Given the description of an element on the screen output the (x, y) to click on. 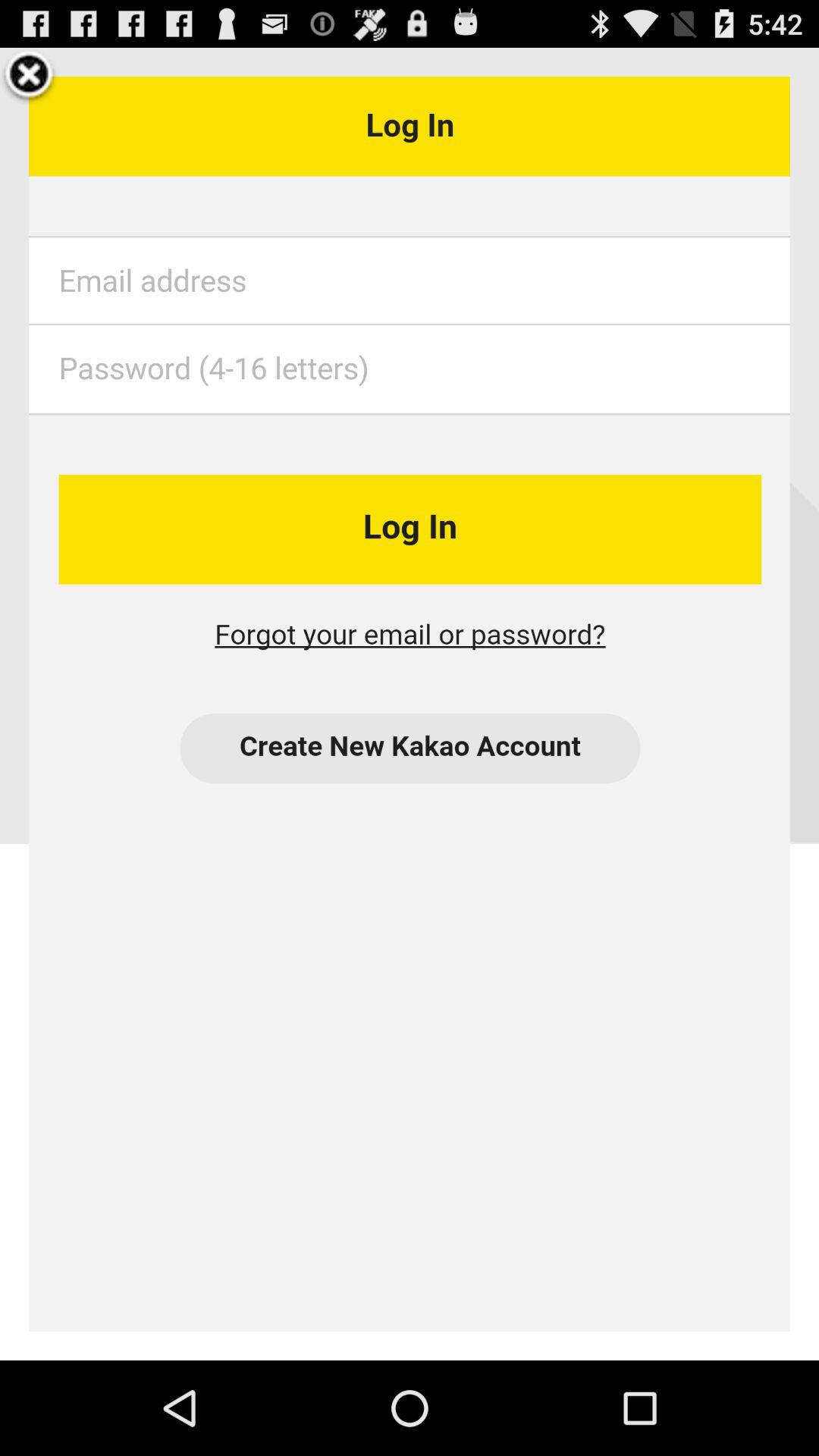
close tab (29, 76)
